Given the description of an element on the screen output the (x, y) to click on. 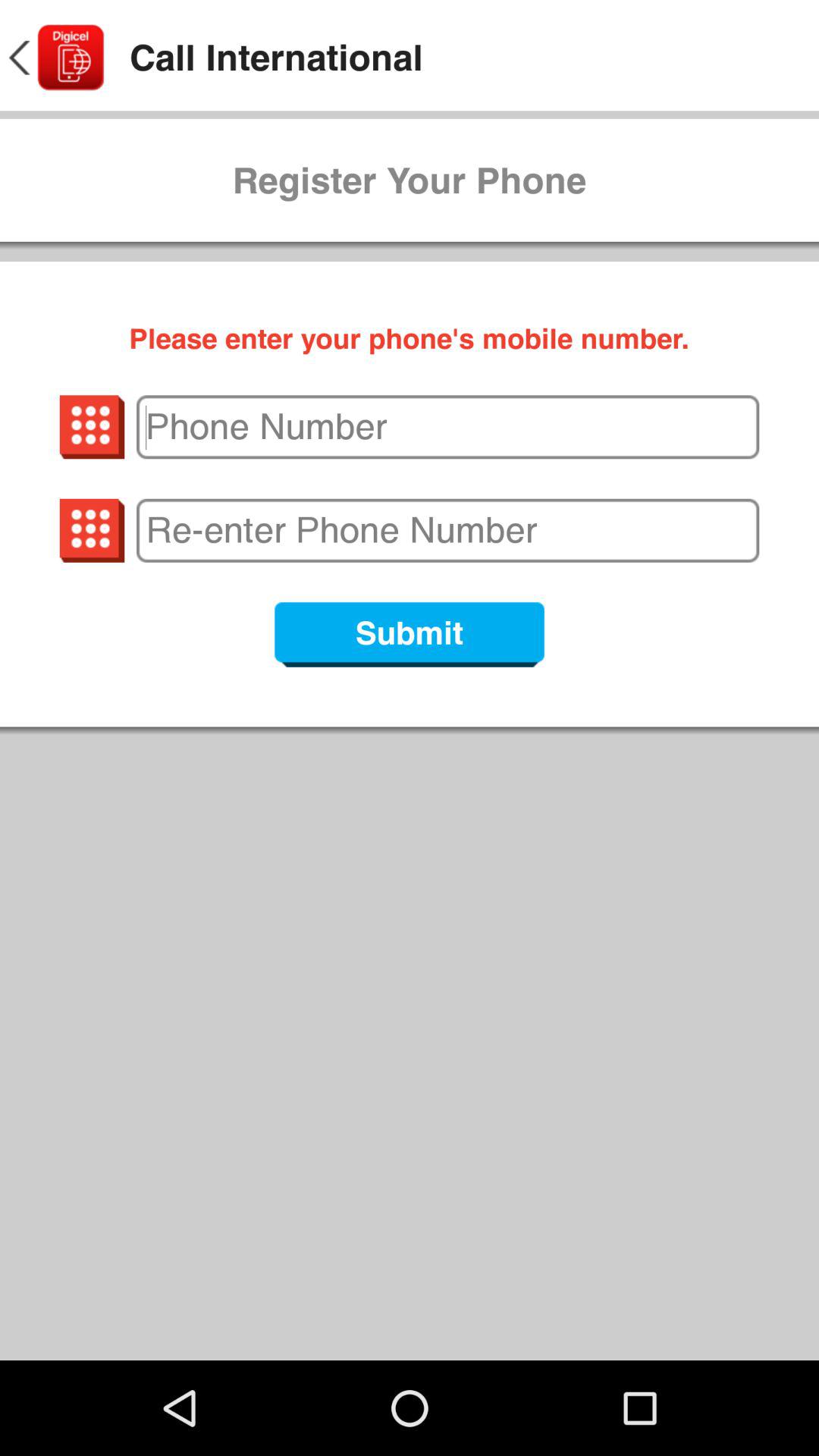
swipe until the submit (409, 634)
